Given the description of an element on the screen output the (x, y) to click on. 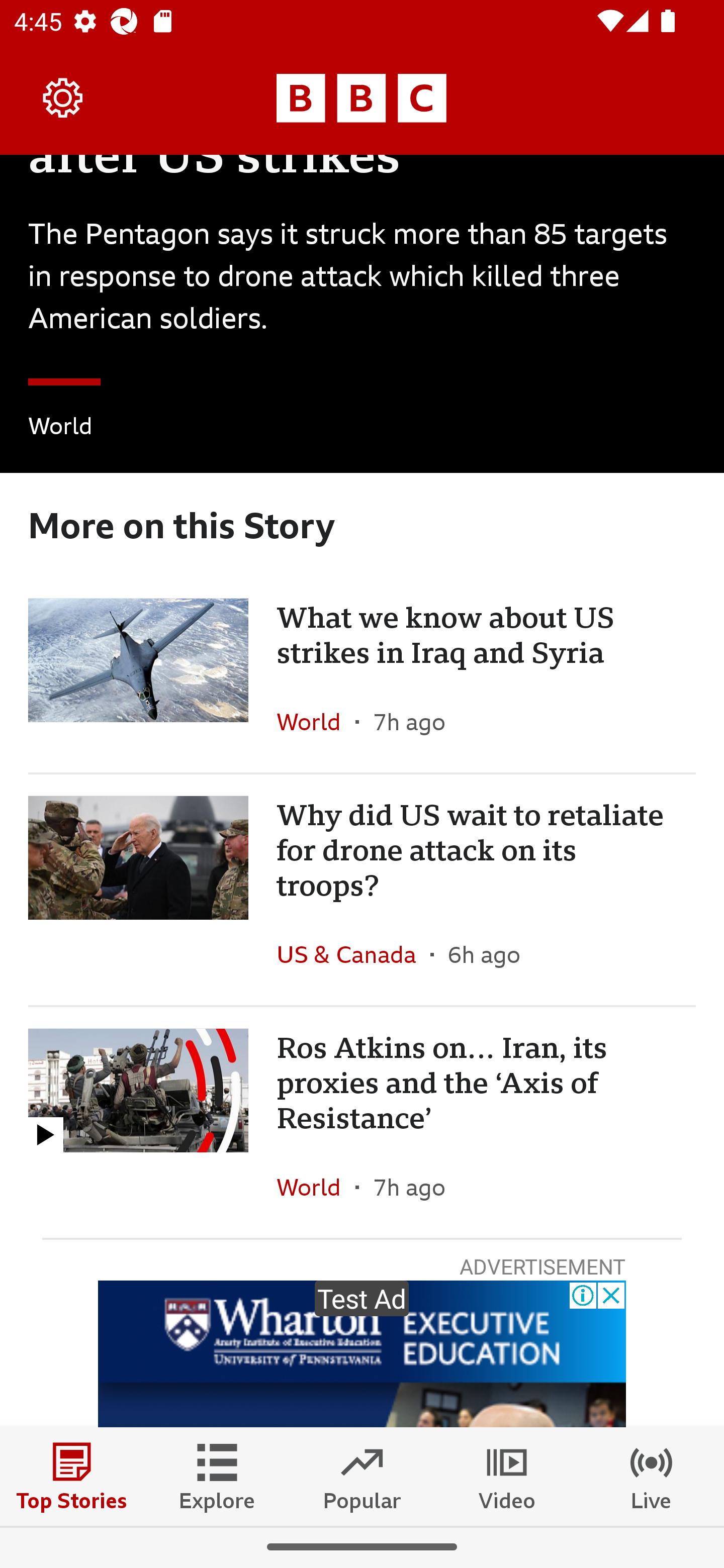
Settings (63, 97)
World In the section World (60, 429)
World In the section World (315, 722)
US & Canada In the section US & Canada (353, 954)
World In the section World (315, 1186)
Explore (216, 1475)
Popular (361, 1475)
Video (506, 1475)
Live (651, 1475)
